Given the description of an element on the screen output the (x, y) to click on. 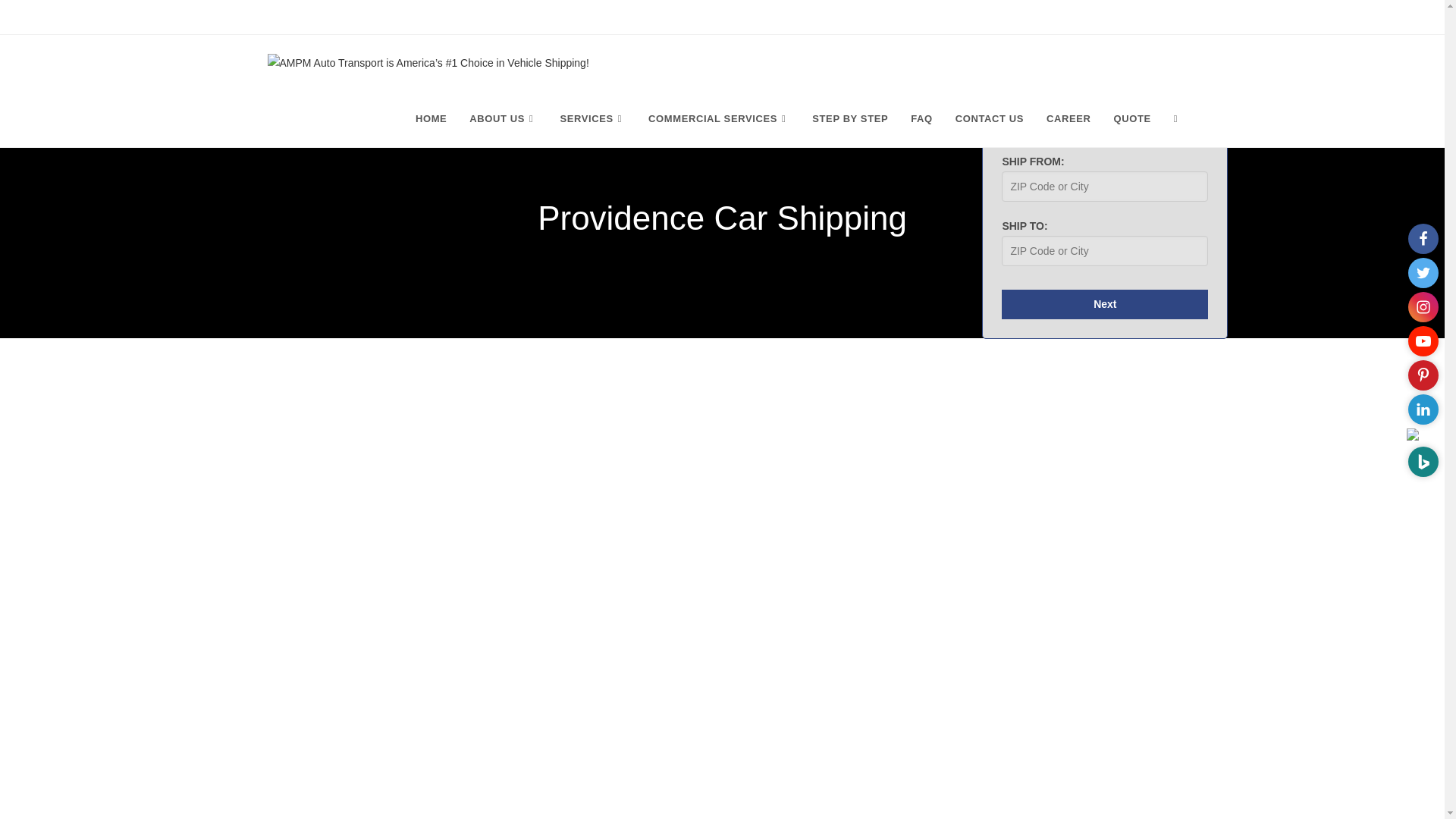
SERVICES (592, 118)
STEP BY STEP (849, 118)
ABOUT US (503, 118)
CONTACT US (989, 118)
Enter a location (1104, 186)
Enter a location (1104, 250)
HOME (431, 118)
COMMERCIAL SERVICES (718, 118)
